Given the description of an element on the screen output the (x, y) to click on. 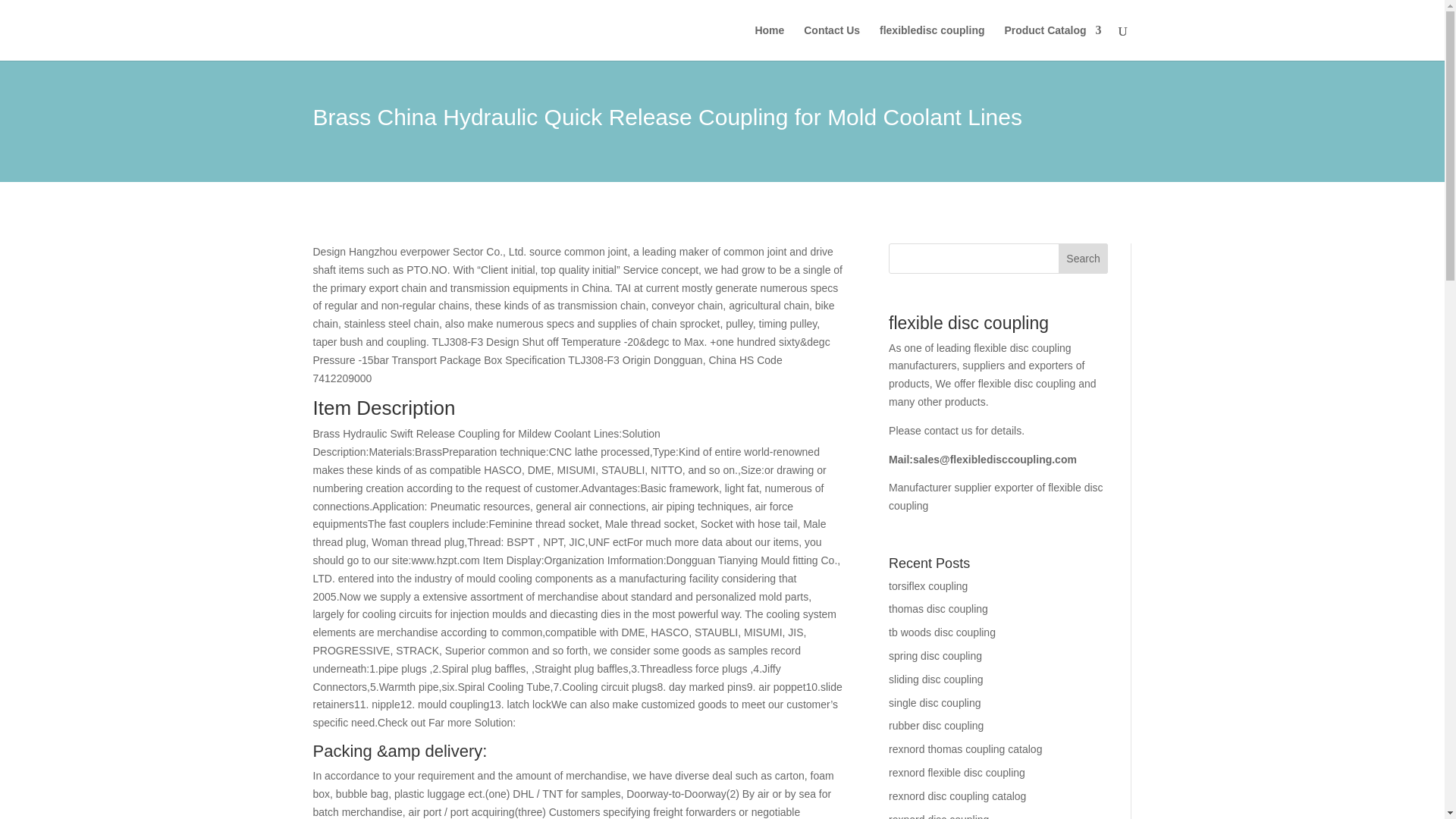
Search (1083, 258)
rexnord disc coupling catalog (957, 796)
sliding disc coupling (936, 679)
rexnord flexible disc coupling (956, 772)
rubber disc coupling (936, 725)
Product Catalog (1052, 42)
single disc coupling (933, 702)
thomas disc coupling (938, 608)
Contact Us (831, 42)
rexnord disc coupling (938, 816)
Search (1083, 258)
torsiflex coupling (928, 585)
rexnord thomas coupling catalog (965, 748)
Home (769, 42)
tb woods disc coupling (941, 632)
